Given the description of an element on the screen output the (x, y) to click on. 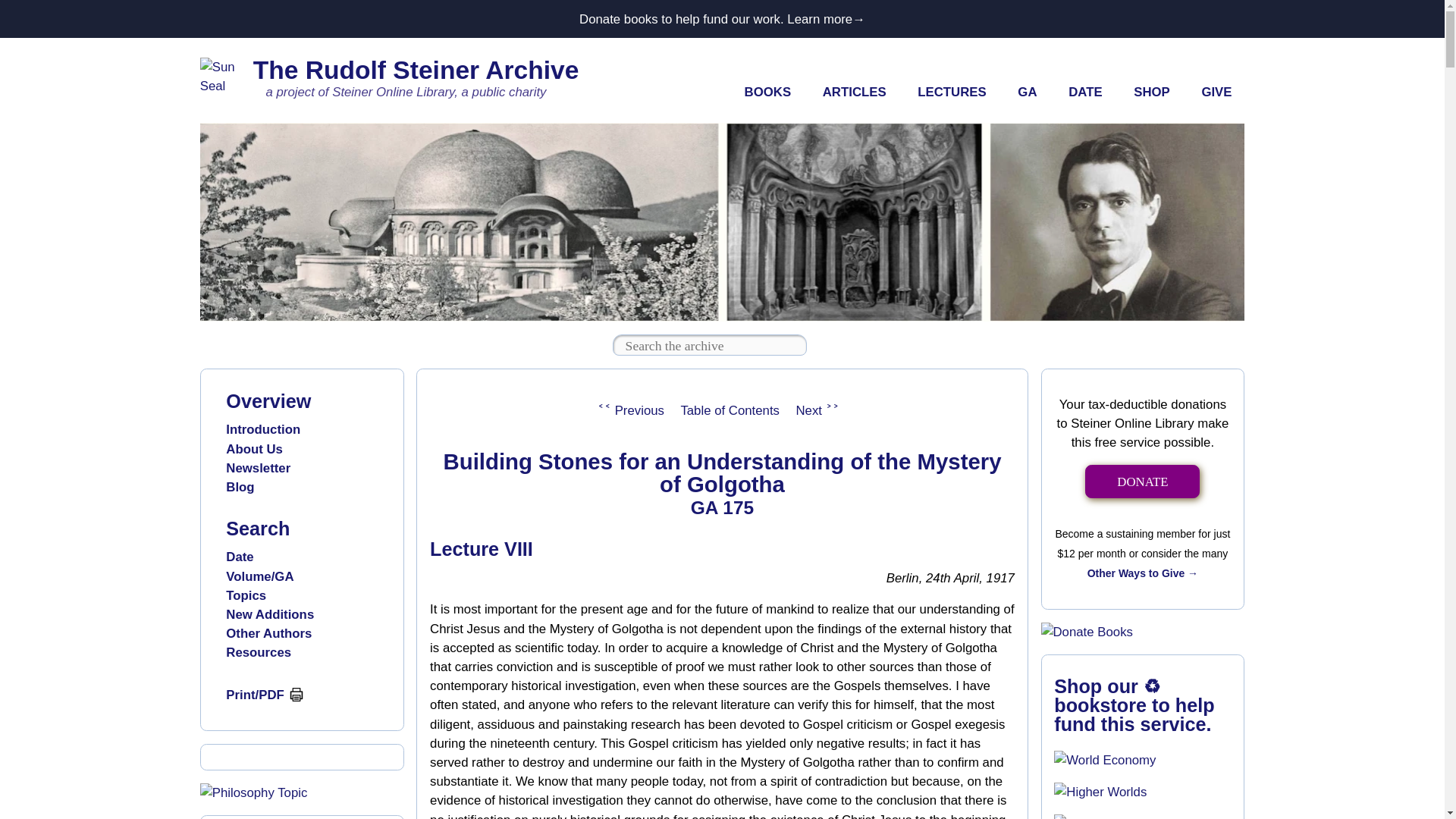
BOOKS (767, 92)
About Us (253, 449)
New Additions (269, 614)
Resources (258, 652)
DATE (1085, 92)
SHOP (1151, 92)
Blog (239, 486)
Other Authors (268, 633)
The Rudolf Steiner Archive (416, 70)
ARTICLES (854, 92)
